Given the description of an element on the screen output the (x, y) to click on. 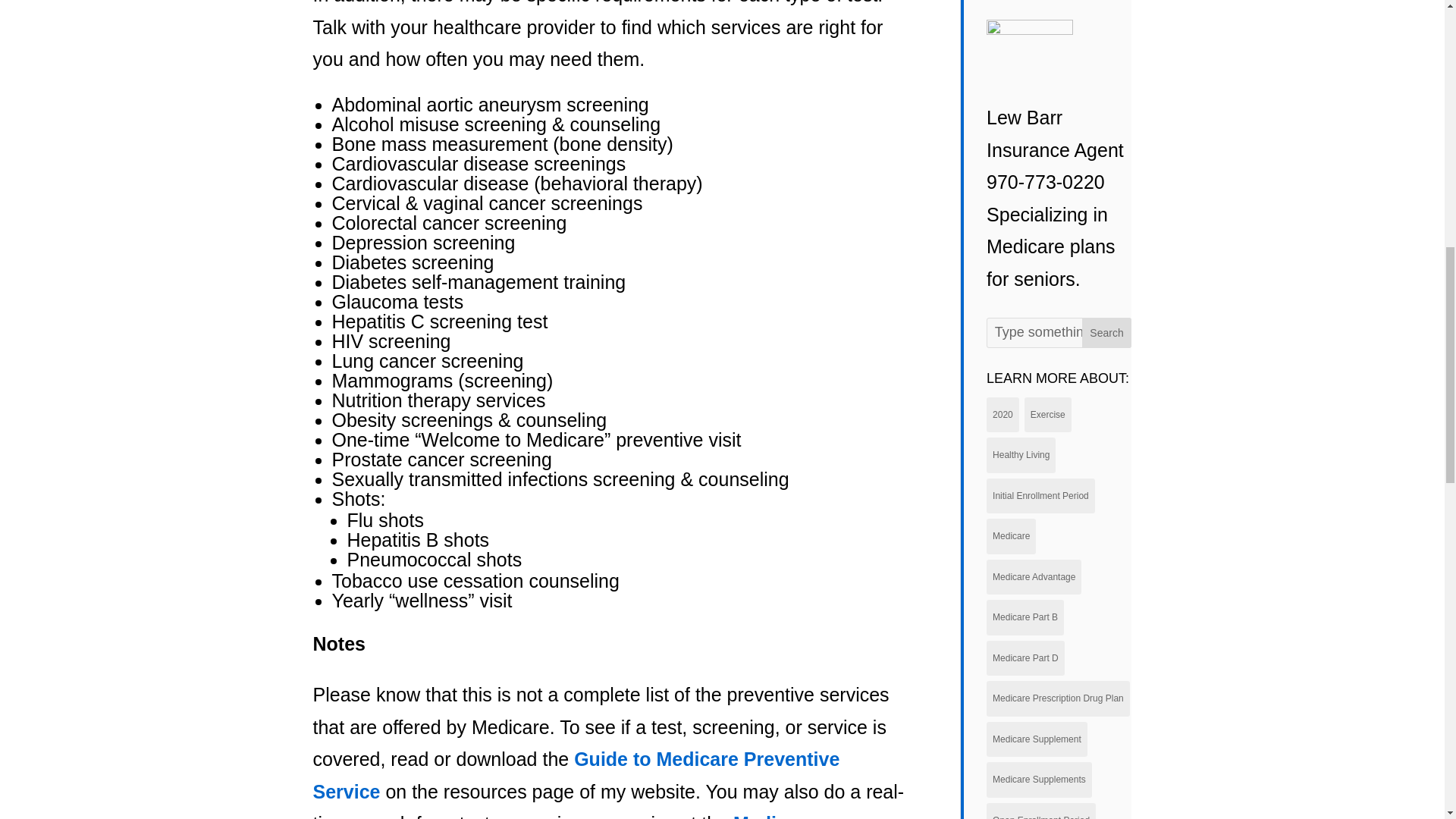
Medicare.gov (793, 816)
Open Enrollment Period (1041, 811)
Medicare Supplements (1039, 779)
Medicare Advantage (1034, 577)
Medicare Prescription Drug Plan (1058, 698)
Healthy Living (1021, 455)
Medicare (1011, 536)
Initial Enrollment Period (1040, 496)
Medicare Part D (1025, 658)
2020 (1003, 415)
Guide to Medicare Preventive Service  (576, 775)
Medicare Supplement (1037, 739)
Medicare Part B (1025, 617)
Exercise (1048, 415)
Search (1106, 332)
